Given the description of an element on the screen output the (x, y) to click on. 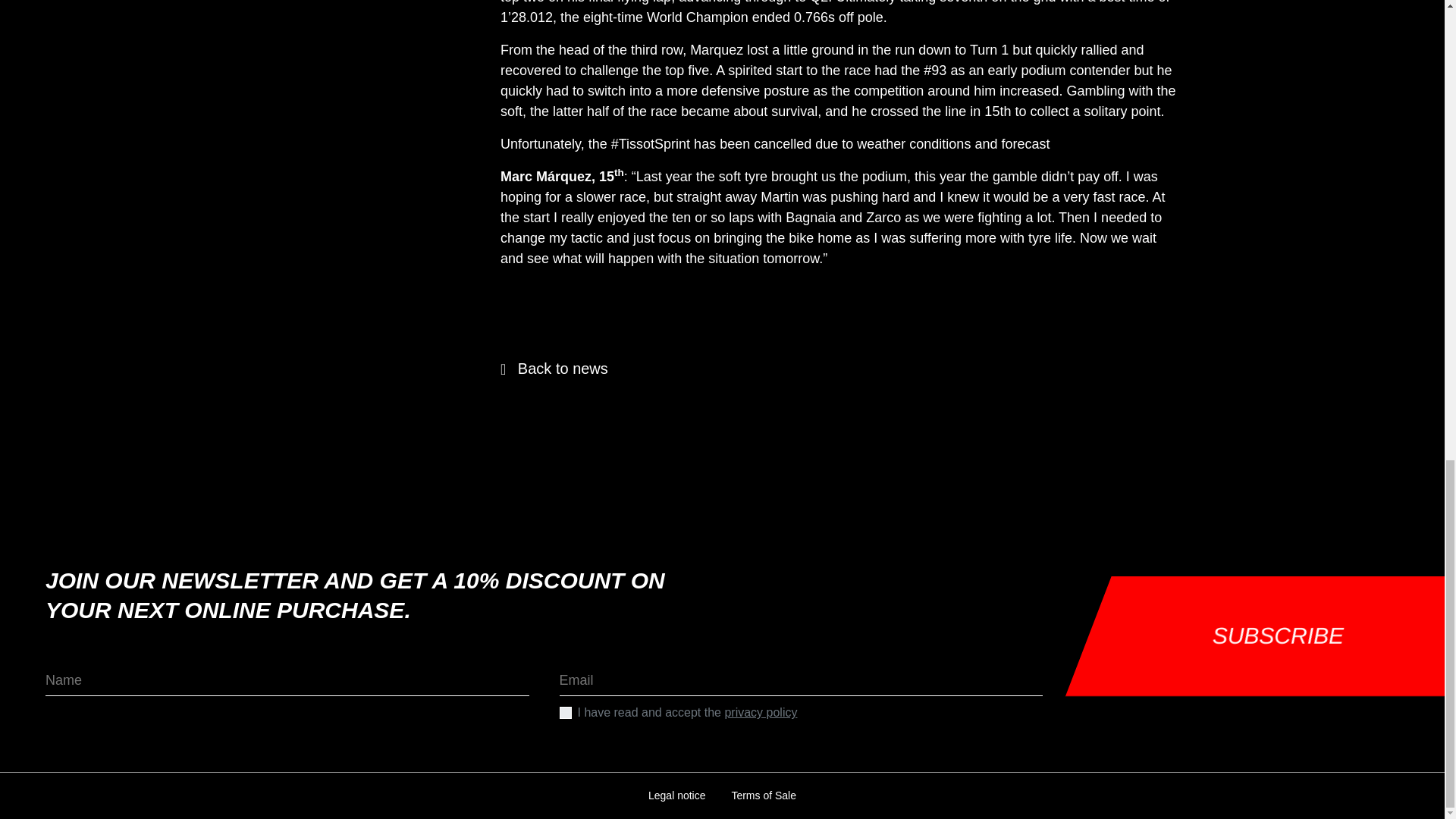
Terms of Sale (763, 795)
privacy policy (759, 712)
Back to news (554, 368)
Legal notice (677, 795)
